Given the description of an element on the screen output the (x, y) to click on. 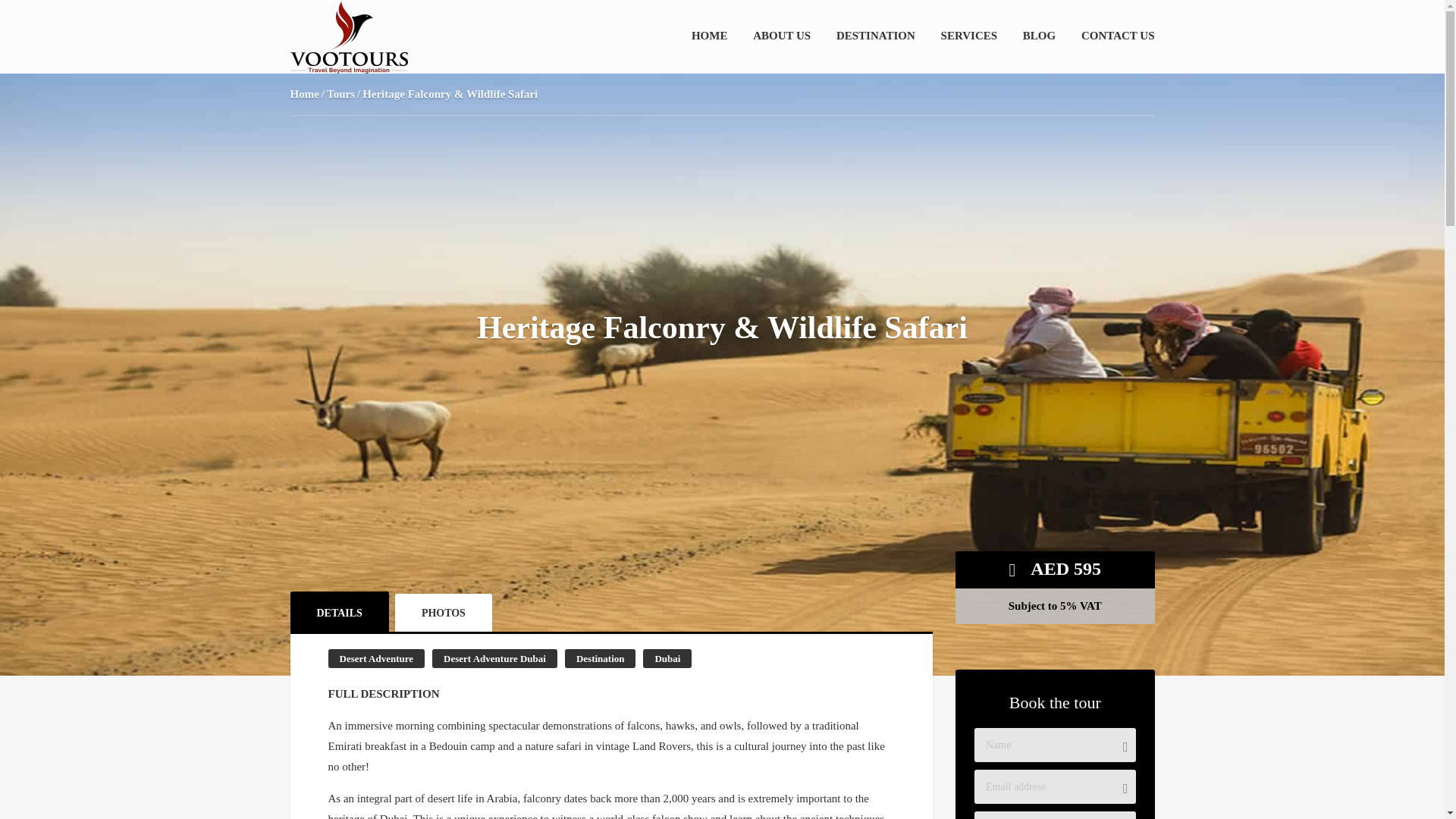
Desert Adventure (376, 658)
CONTACT US (1117, 35)
Home (303, 93)
ABOUT US (781, 35)
Desert Adventure Dubai (494, 658)
DETAILS (338, 611)
BLOG (1039, 35)
PHOTOS (443, 612)
Tours (340, 93)
Destination (600, 658)
SERVICES (968, 35)
HOME (709, 35)
DESTINATION (875, 35)
